Given the description of an element on the screen output the (x, y) to click on. 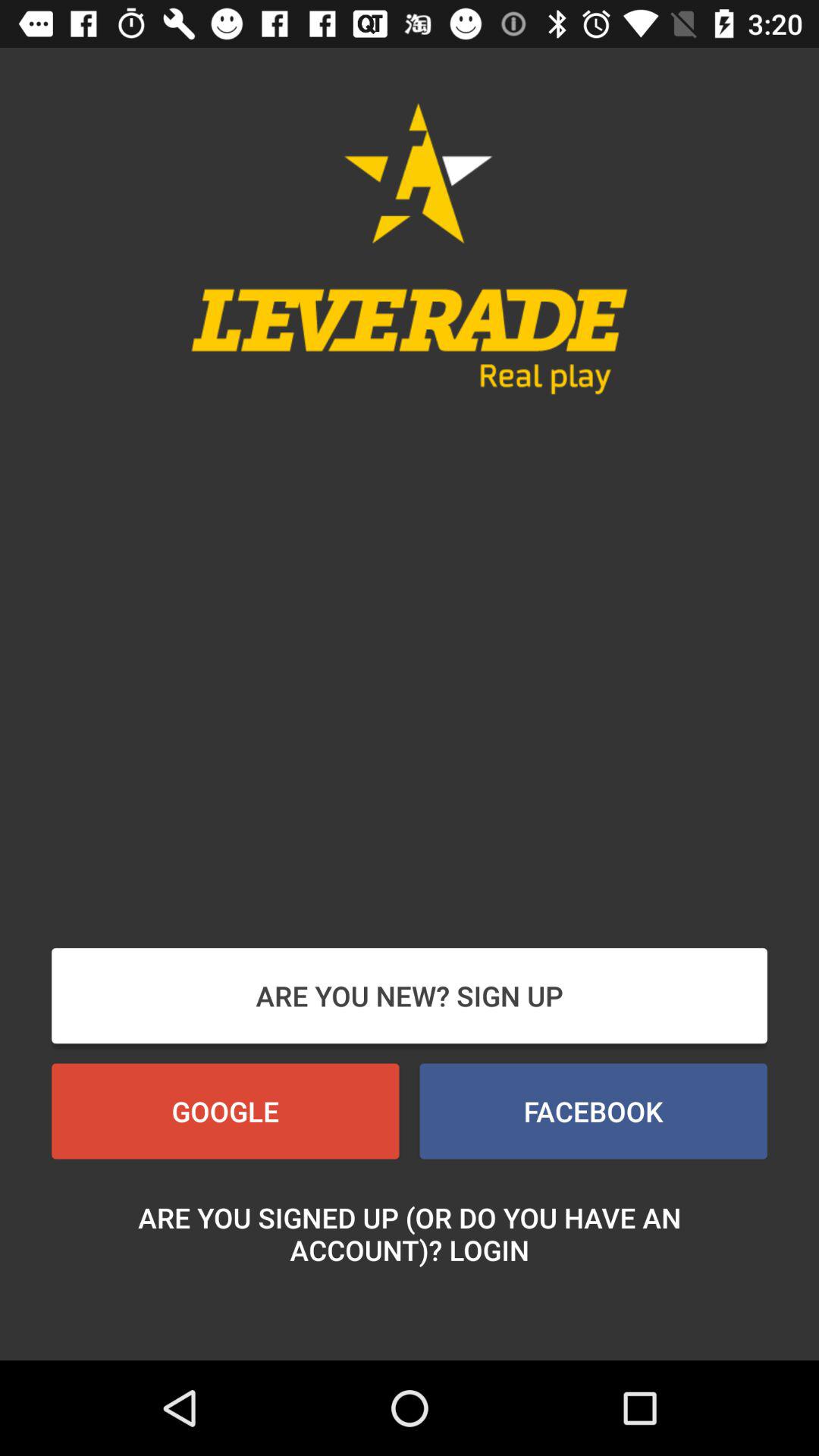
open icon next to the google item (593, 1111)
